Given the description of an element on the screen output the (x, y) to click on. 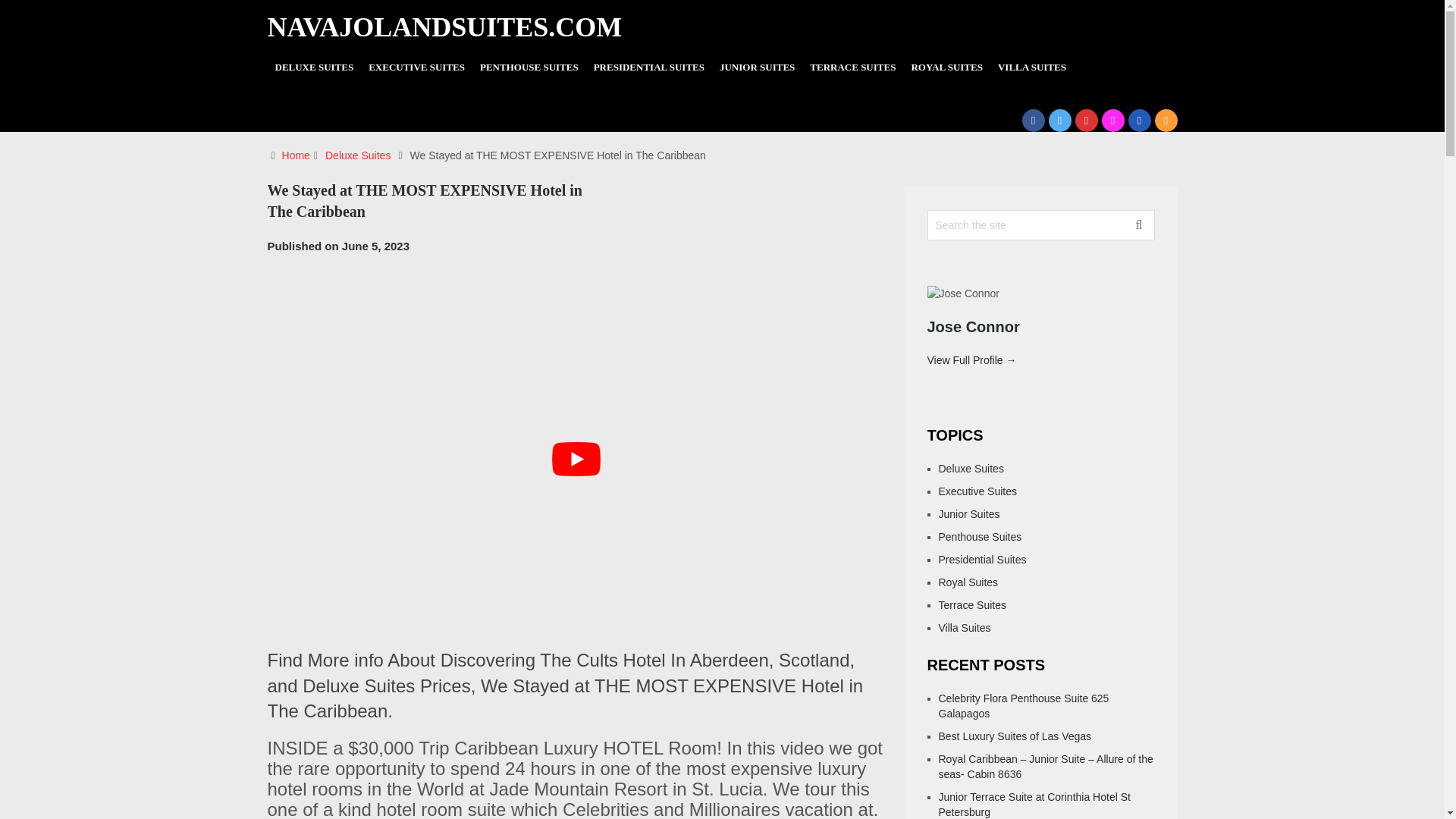
DELUXE SUITES (313, 67)
ROYAL SUITES (946, 67)
JUNIOR SUITES (756, 67)
PENTHOUSE SUITES (528, 67)
PRESIDENTIAL SUITES (648, 67)
TERRACE SUITES (852, 67)
NAVAJOLANDSUITES.COM (443, 26)
Home (296, 155)
Deluxe Suites (357, 155)
EXECUTIVE SUITES (416, 67)
